Given the description of an element on the screen output the (x, y) to click on. 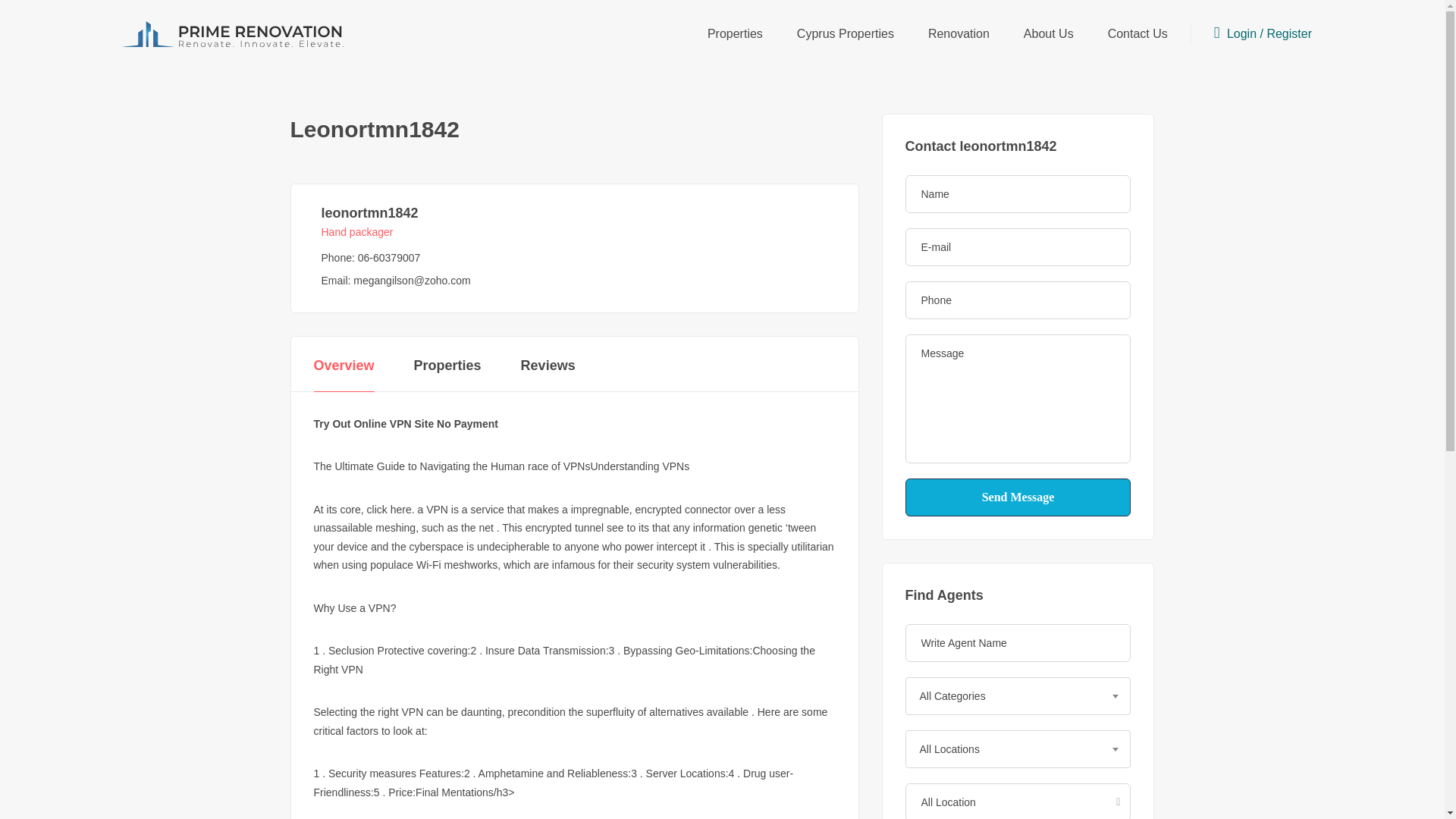
click here. (390, 509)
Renovation (959, 33)
renovation logo (231, 33)
Cyprus Properties (844, 33)
Register (1288, 33)
Login (1243, 33)
Reviews (548, 366)
Login (1243, 33)
Overview (344, 366)
06-60379007 (389, 257)
Send Message (1018, 497)
Register (1288, 33)
Properties (447, 366)
